Given the description of an element on the screen output the (x, y) to click on. 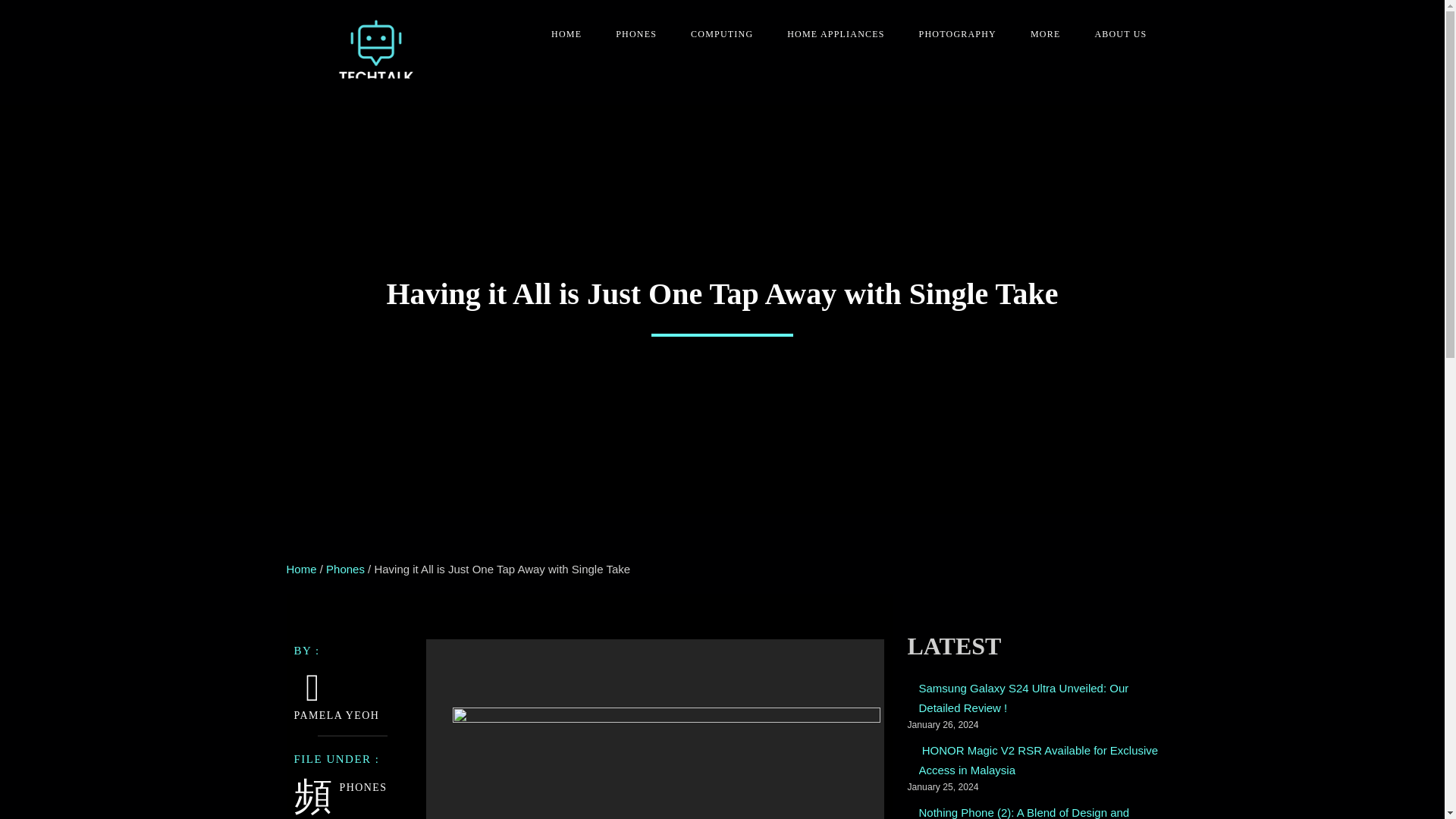
COMPUTING (716, 34)
Phones (345, 568)
PHOTOGRAPHY (951, 34)
HOME APPLIANCES (829, 34)
PHONES (630, 34)
MORE (1039, 34)
Samsung Galaxy S24 Ultra Unveiled: Our Detailed Review ! (1038, 697)
HOME (560, 34)
PHONES (363, 787)
ABOUT US (1114, 34)
Home (301, 568)
